Given the description of an element on the screen output the (x, y) to click on. 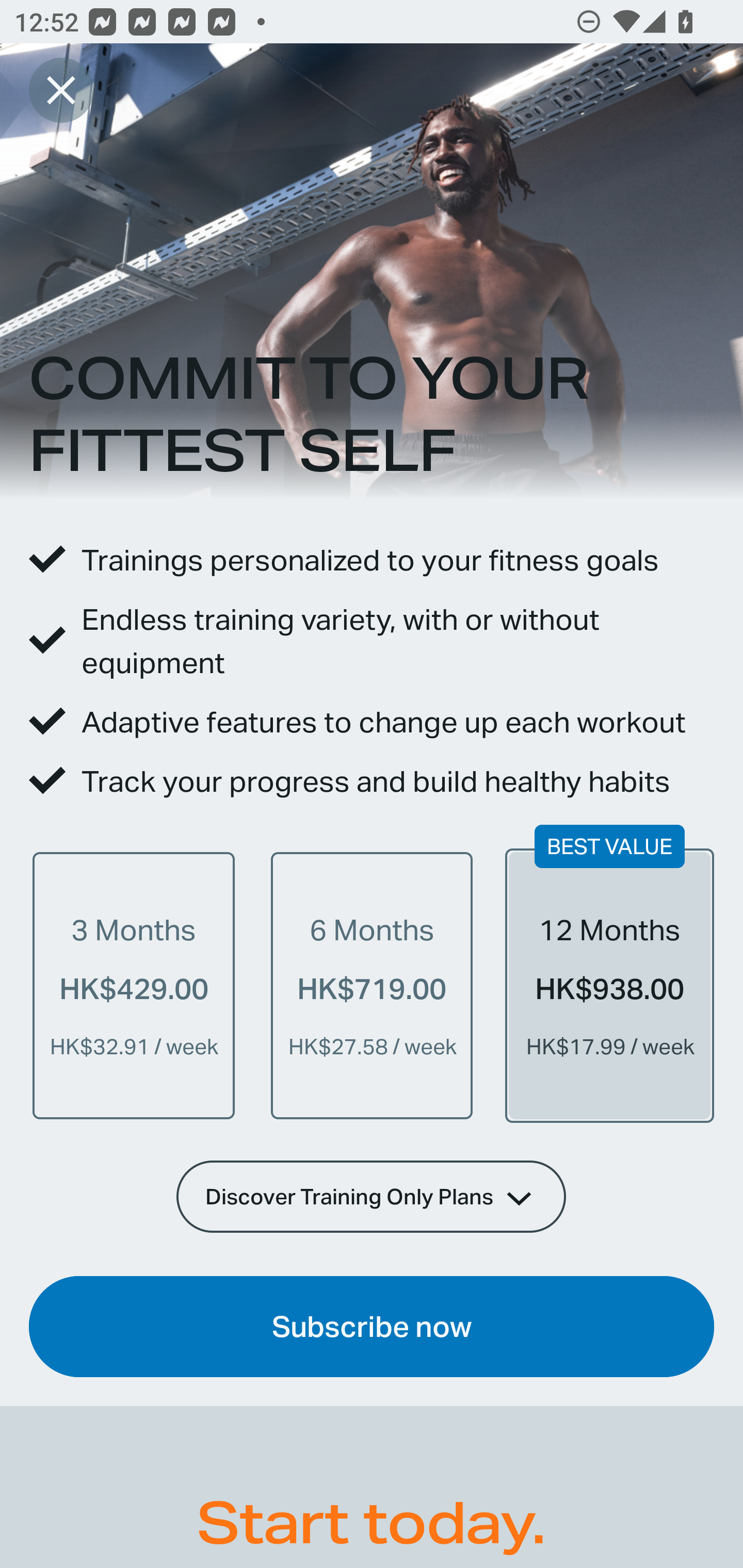
Close (60, 90)
3 Months HK$429.00 HK$32.91 / week (133, 985)
6 Months HK$719.00 HK$27.58 / week (371, 985)
12 Months HK$938.00 HK$17.99 / week (609, 985)
Discover Training Only Plans (371, 1196)
Subscribe now (371, 1326)
